Given the description of an element on the screen output the (x, y) to click on. 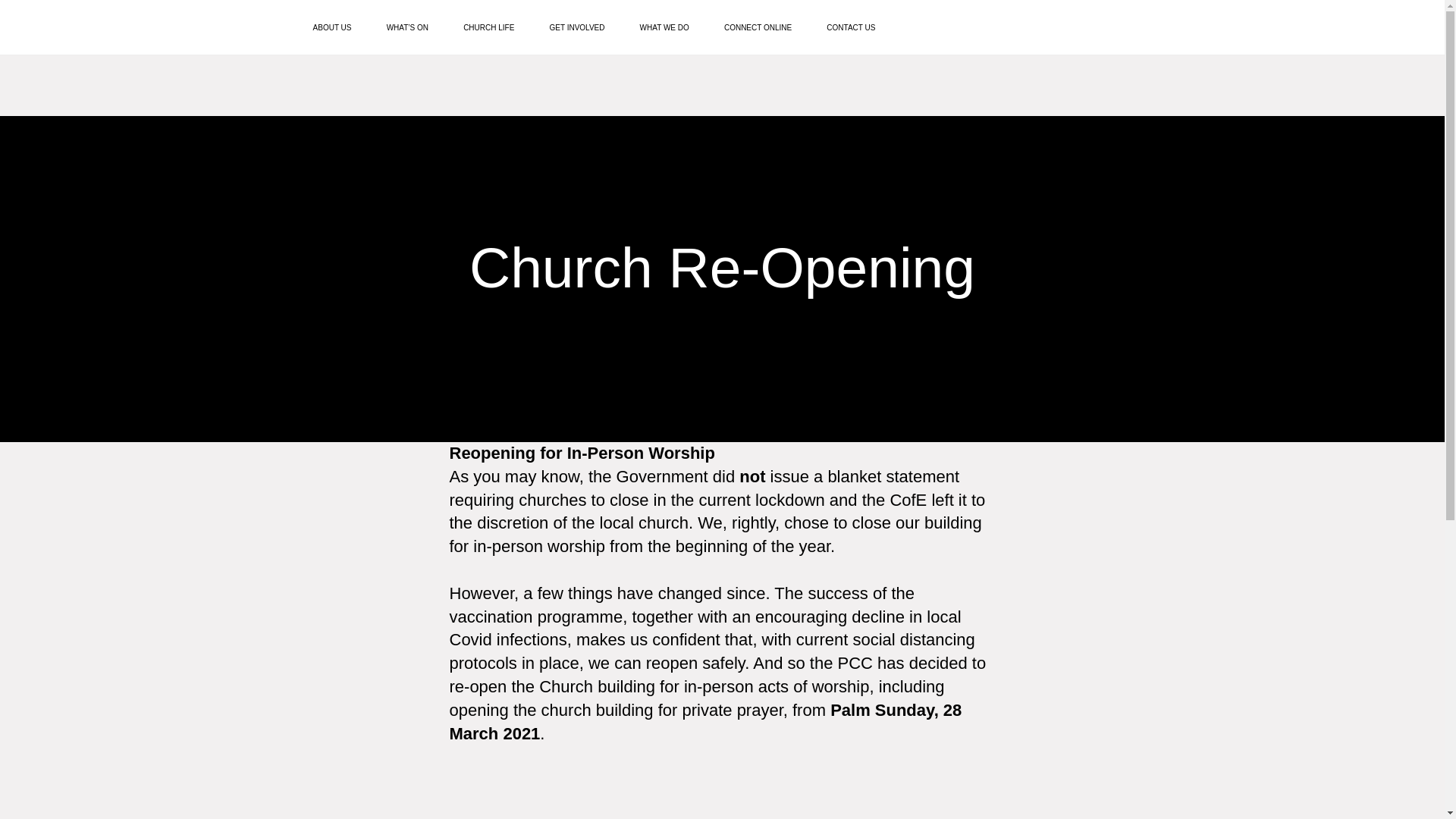
ST JOHN'S CHURCH EGHAM (98, 26)
ABOUT US (332, 27)
CHURCH LIFE (488, 27)
